Given the description of an element on the screen output the (x, y) to click on. 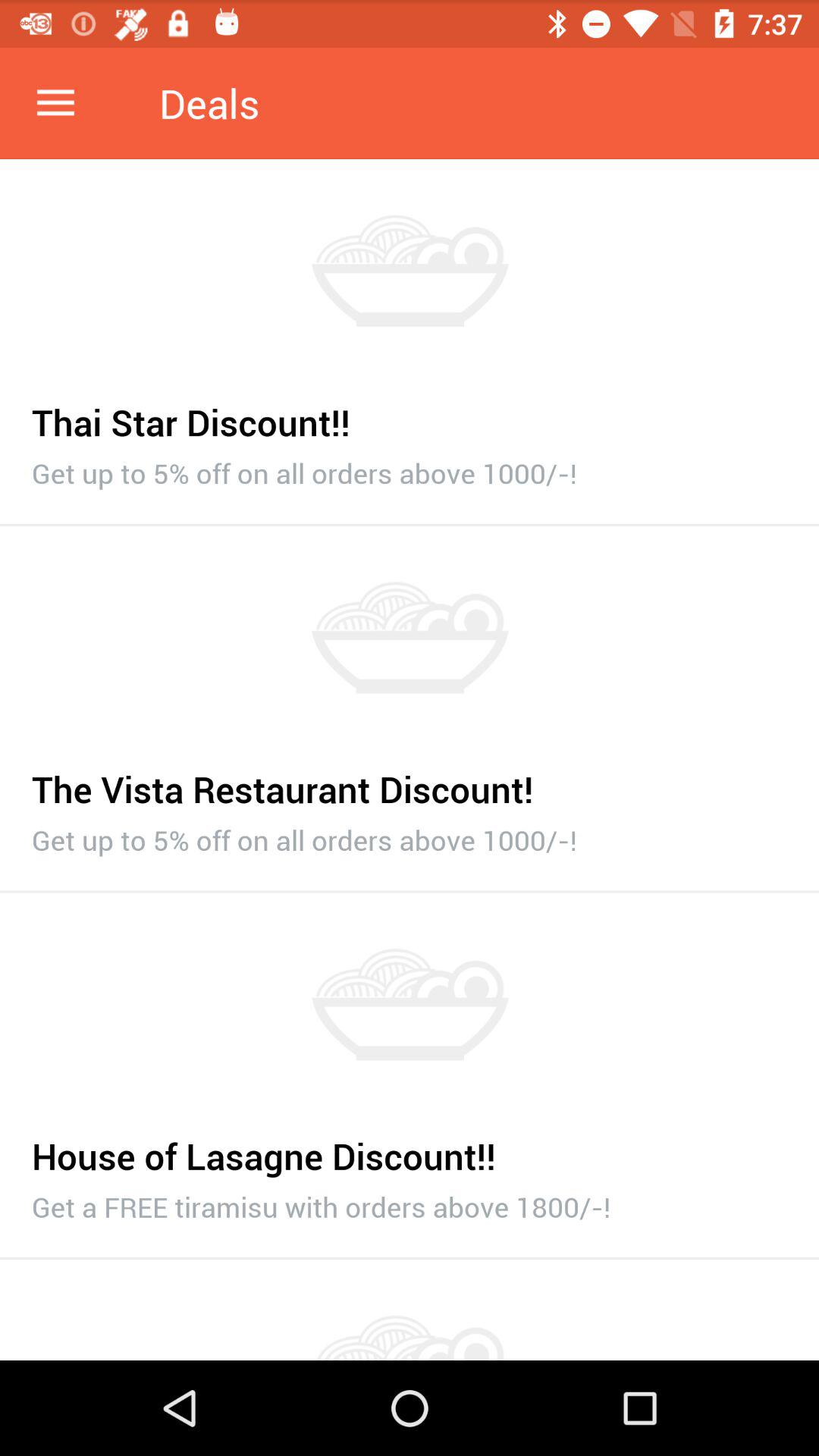
turn off the vista restaurant icon (409, 781)
